Given the description of an element on the screen output the (x, y) to click on. 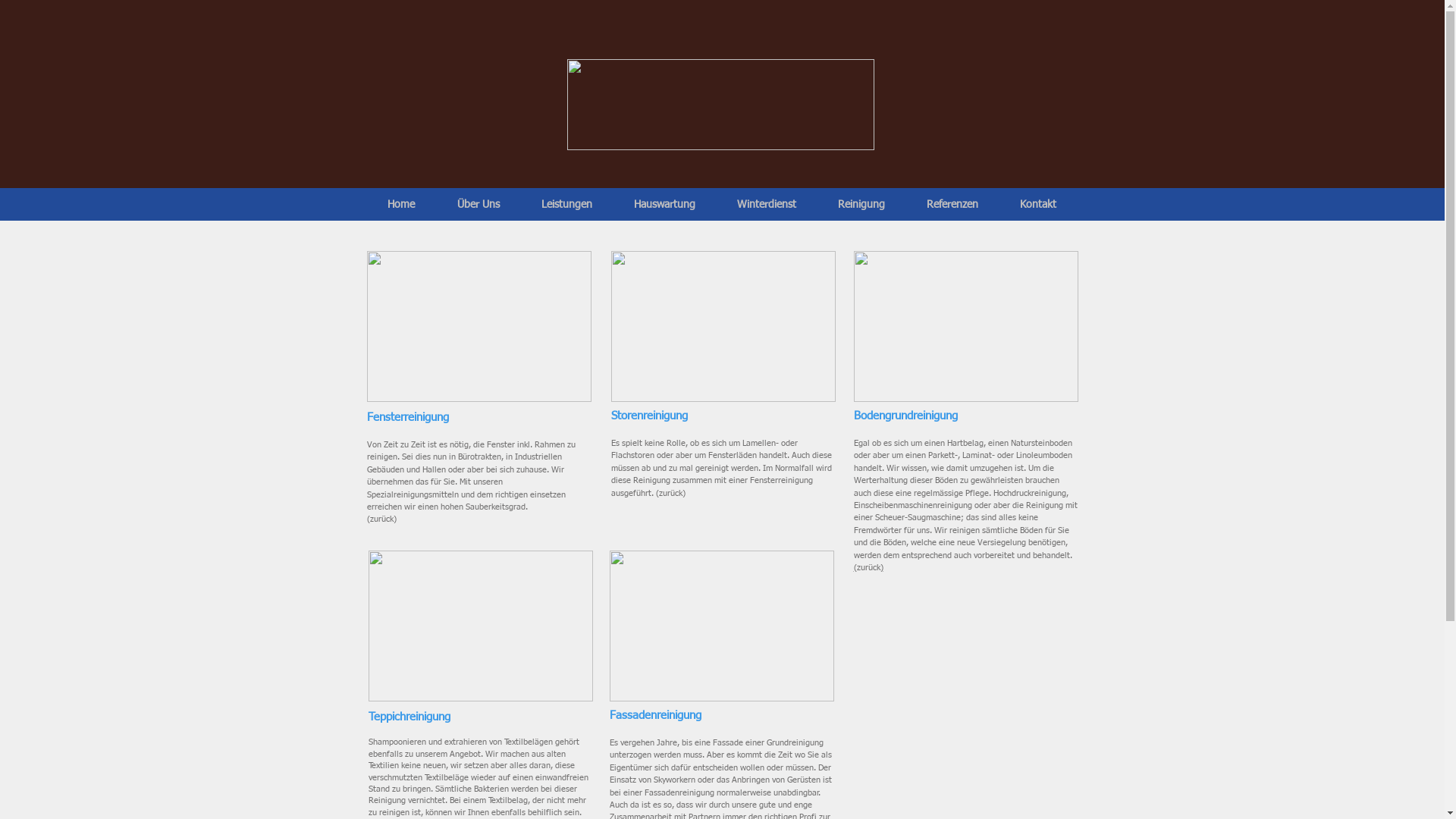
Leistungen Element type: text (566, 204)
Winterdienst Element type: text (765, 204)
Referenzen Element type: text (951, 204)
Home Element type: text (400, 204)
) Element type: text (880, 567)
Reinigung Element type: text (861, 204)
( Element type: text (854, 567)
Kontakt Element type: text (1038, 204)
Hauswartung Element type: text (663, 204)
